Given the description of an element on the screen output the (x, y) to click on. 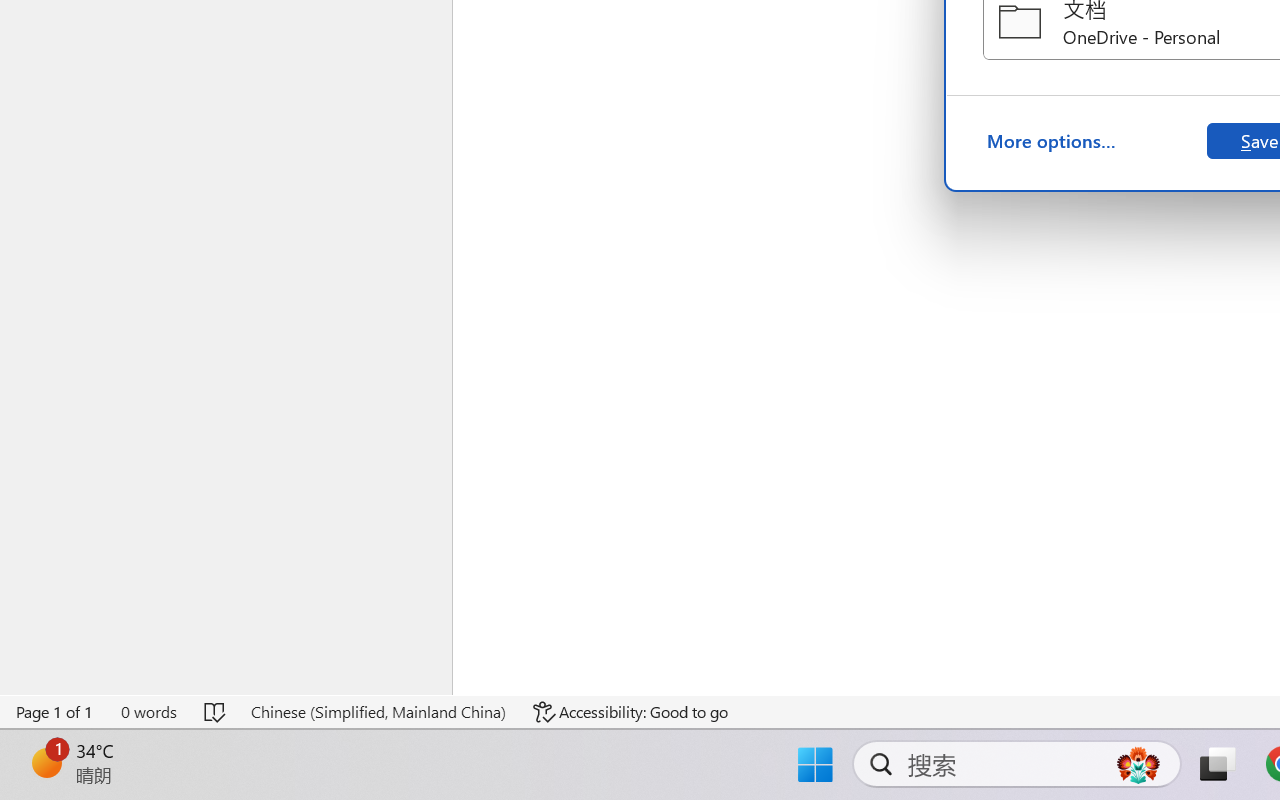
Language Chinese (Simplified, Mainland China) (378, 712)
